Given the description of an element on the screen output the (x, y) to click on. 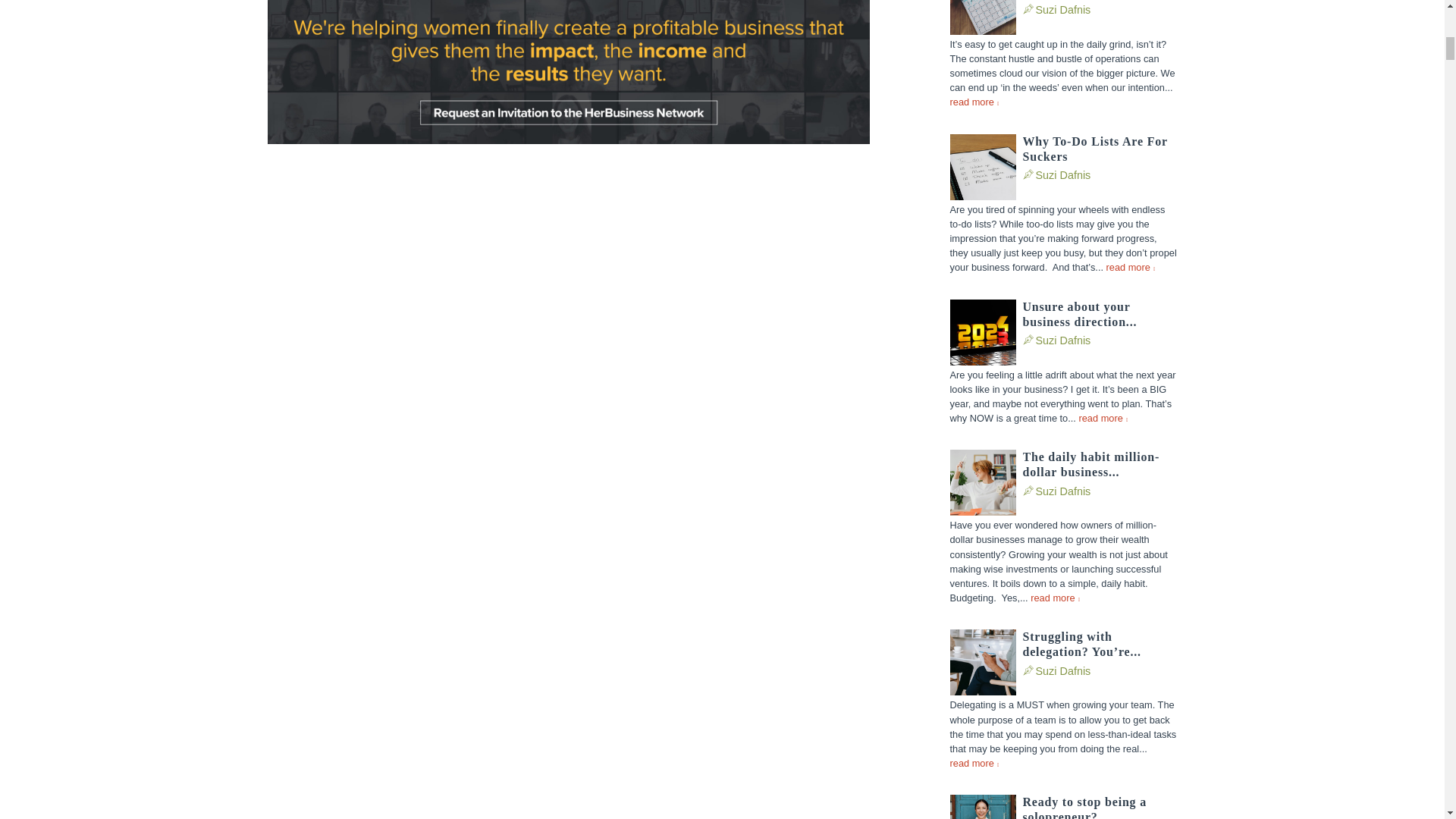
Suzi Dafnis (1062, 9)
